Given the description of an element on the screen output the (x, y) to click on. 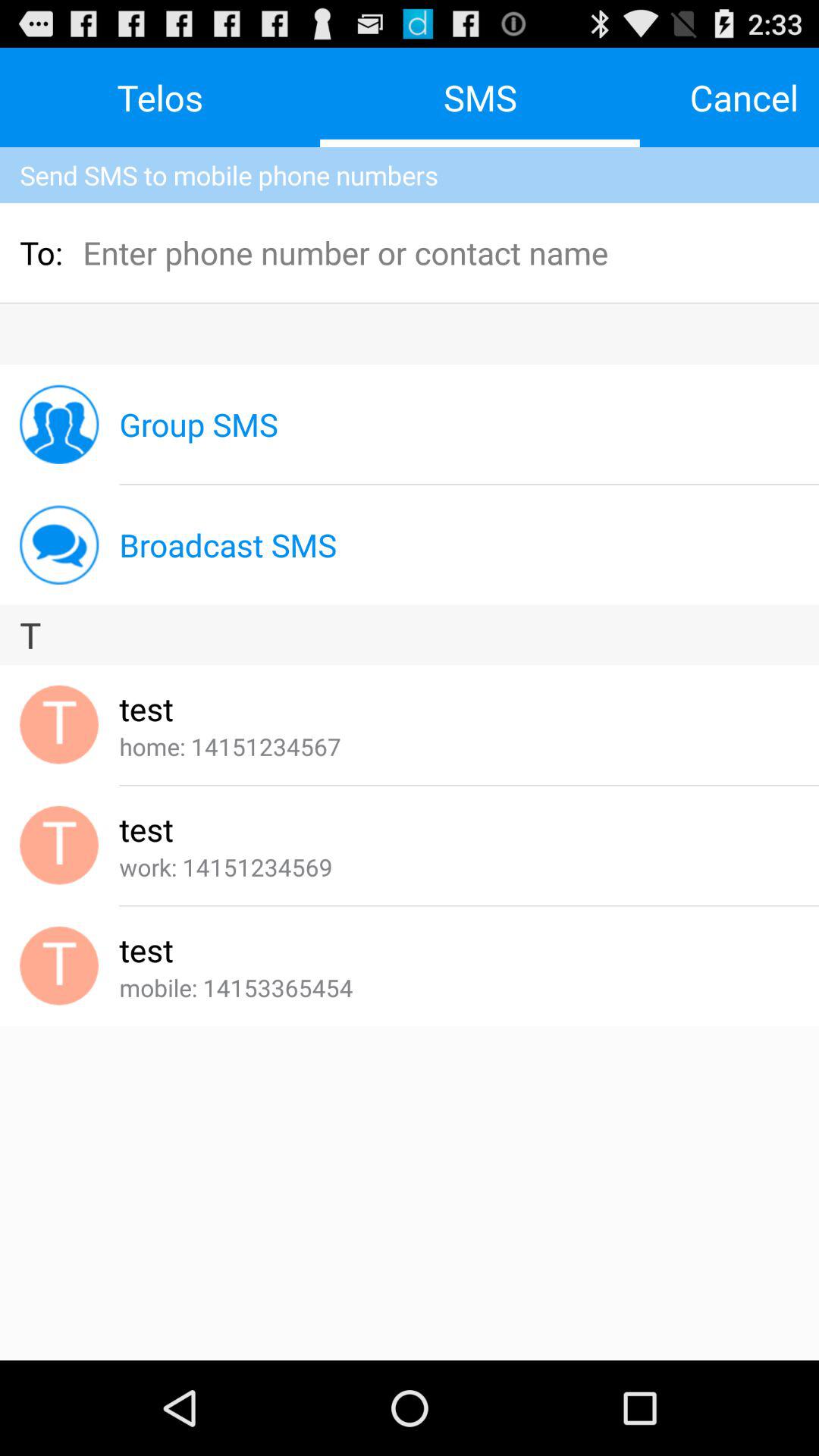
swipe until broadcast sms app (227, 544)
